Given the description of an element on the screen output the (x, y) to click on. 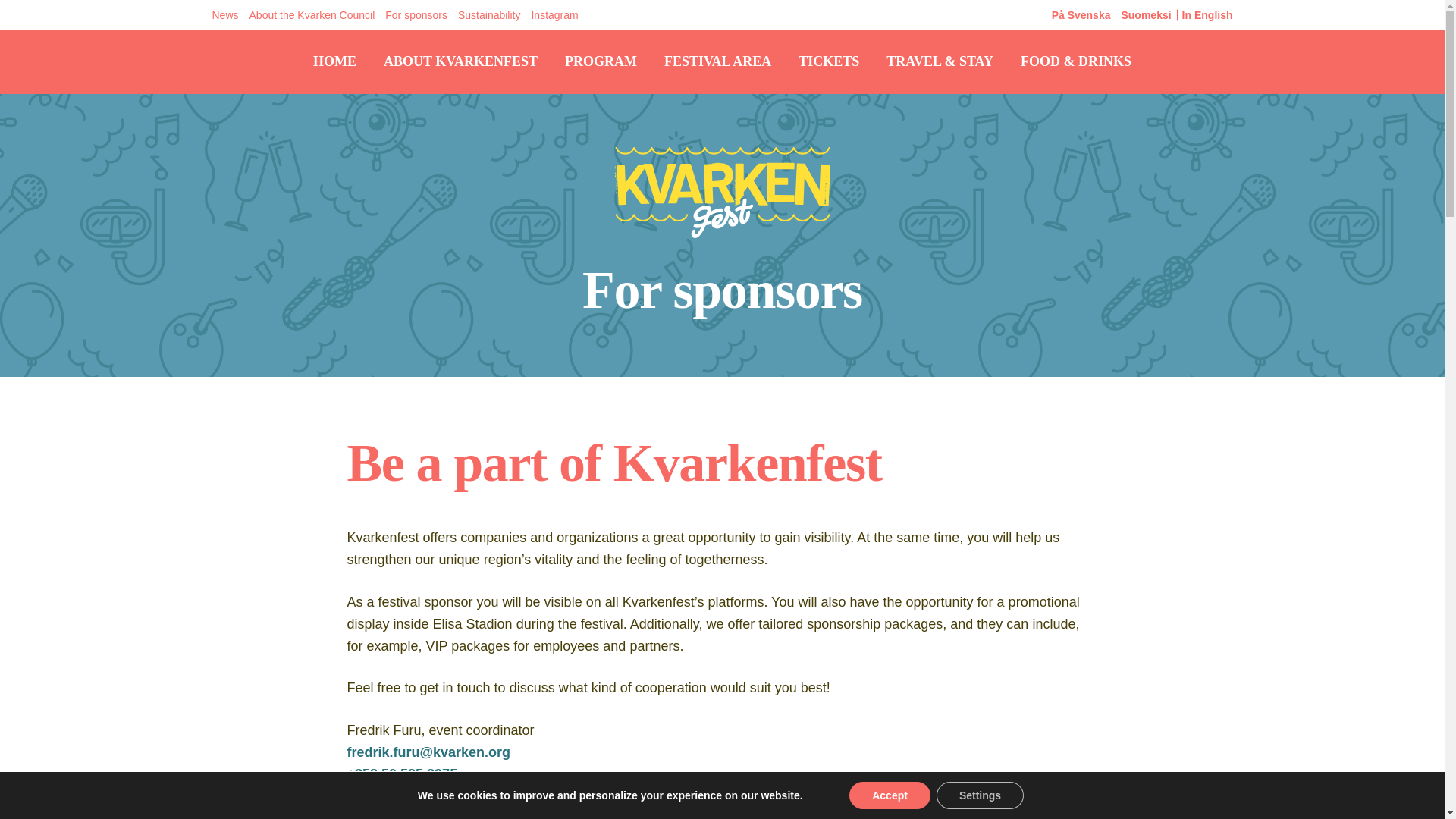
HOME (334, 61)
News (224, 14)
ABOUT KVARKENFEST (460, 61)
FESTIVAL AREA (717, 61)
Instagram (554, 14)
Sustainability (488, 14)
Suomeksi (1145, 14)
TICKETS (828, 61)
About the Kvarken Council (312, 14)
For sponsors (416, 14)
In English (1207, 14)
PROGRAM (600, 61)
